Given the description of an element on the screen output the (x, y) to click on. 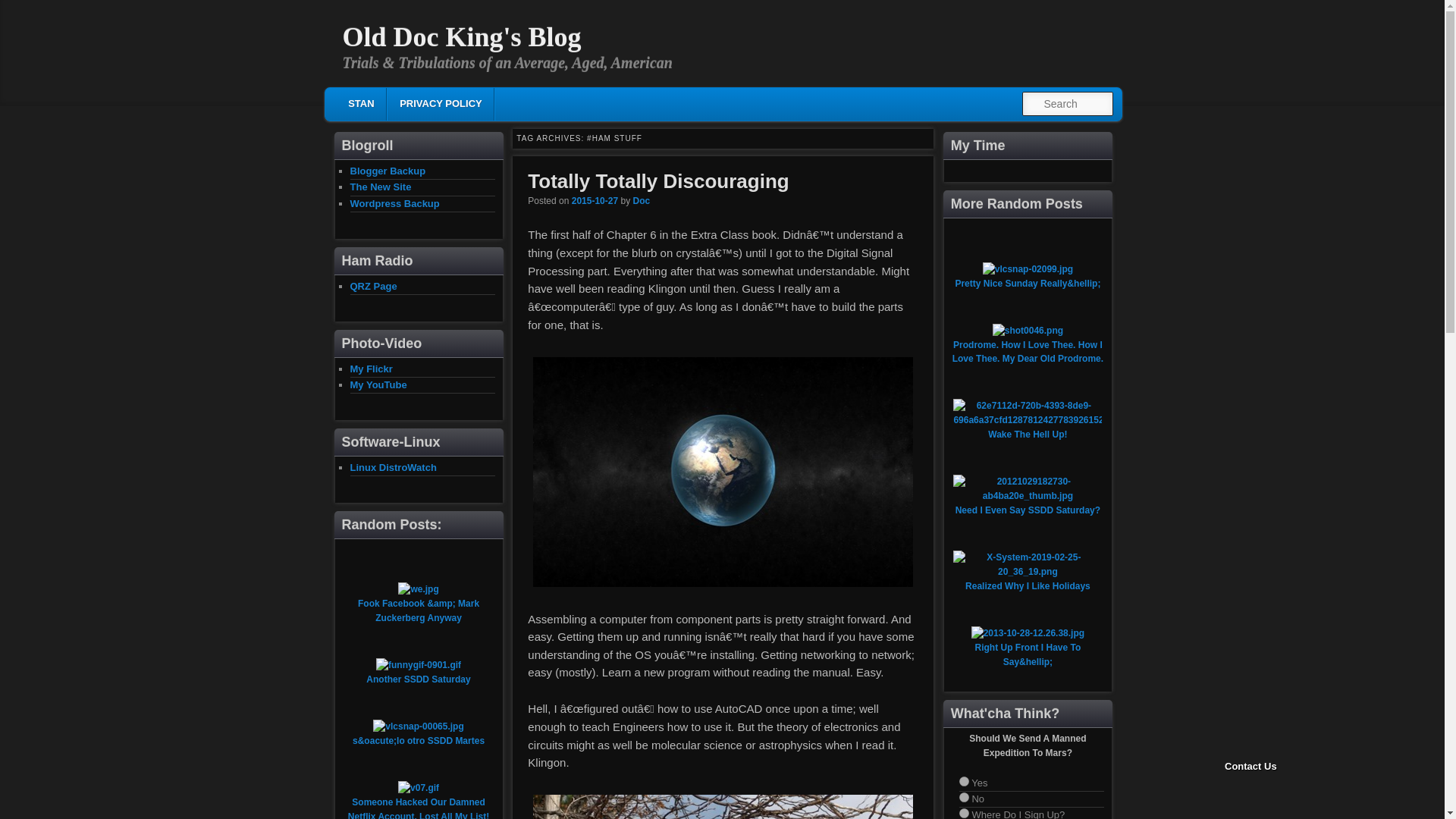
STAN (360, 103)
My Flickr (371, 367)
2015-10-27 (594, 200)
Search (24, 8)
PRIVACY POLICY (440, 103)
33 (964, 813)
Doc (640, 200)
My YouTube (378, 384)
1538 (594, 200)
Totally Totally Discouraging (658, 180)
Linux DistroWatch (393, 467)
QRZ Page (373, 285)
137 (723, 472)
SKIP TO SECONDARY CONTENT (445, 106)
32 (964, 797)
